Given the description of an element on the screen output the (x, y) to click on. 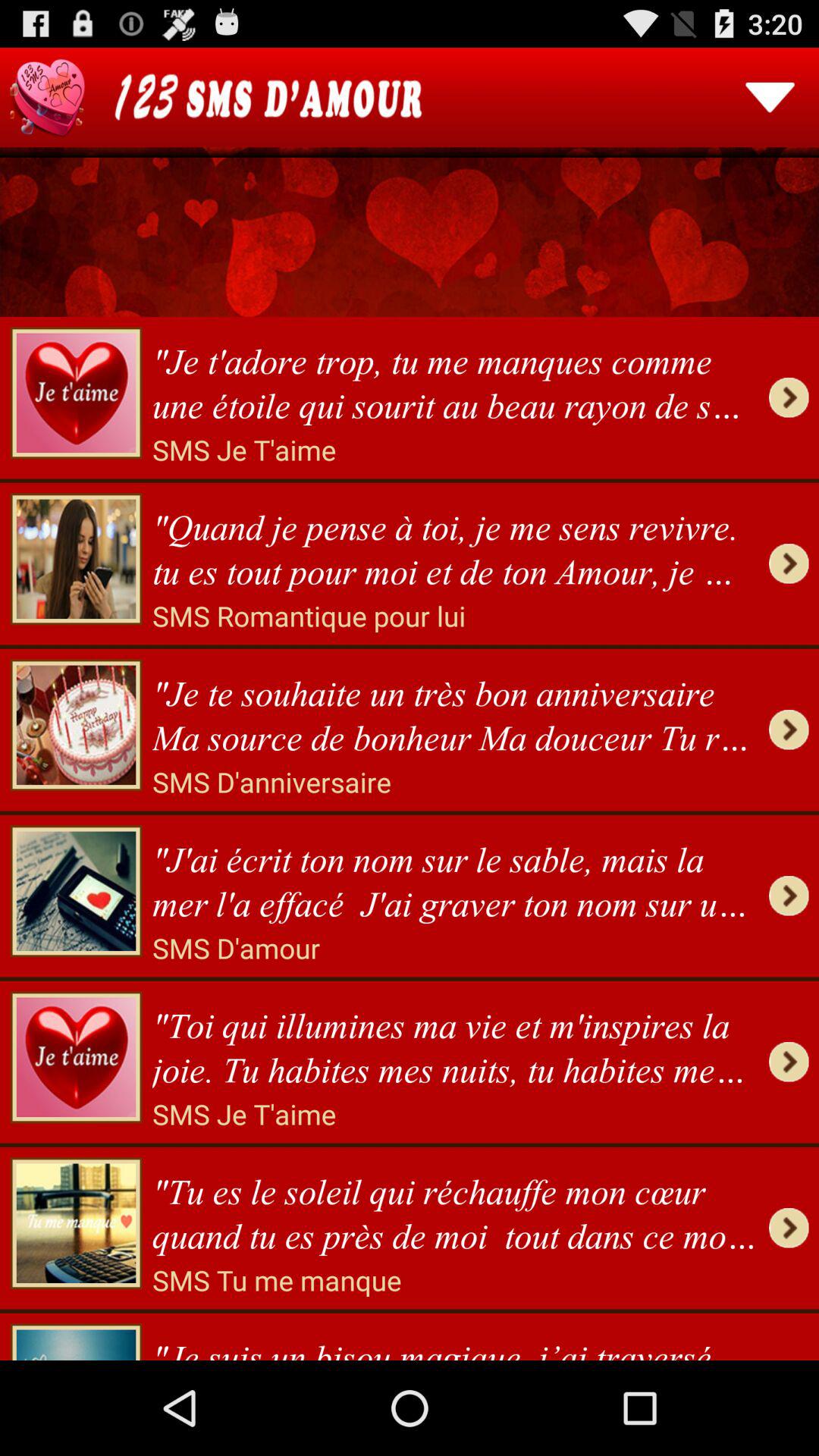
open menu (770, 97)
